Given the description of an element on the screen output the (x, y) to click on. 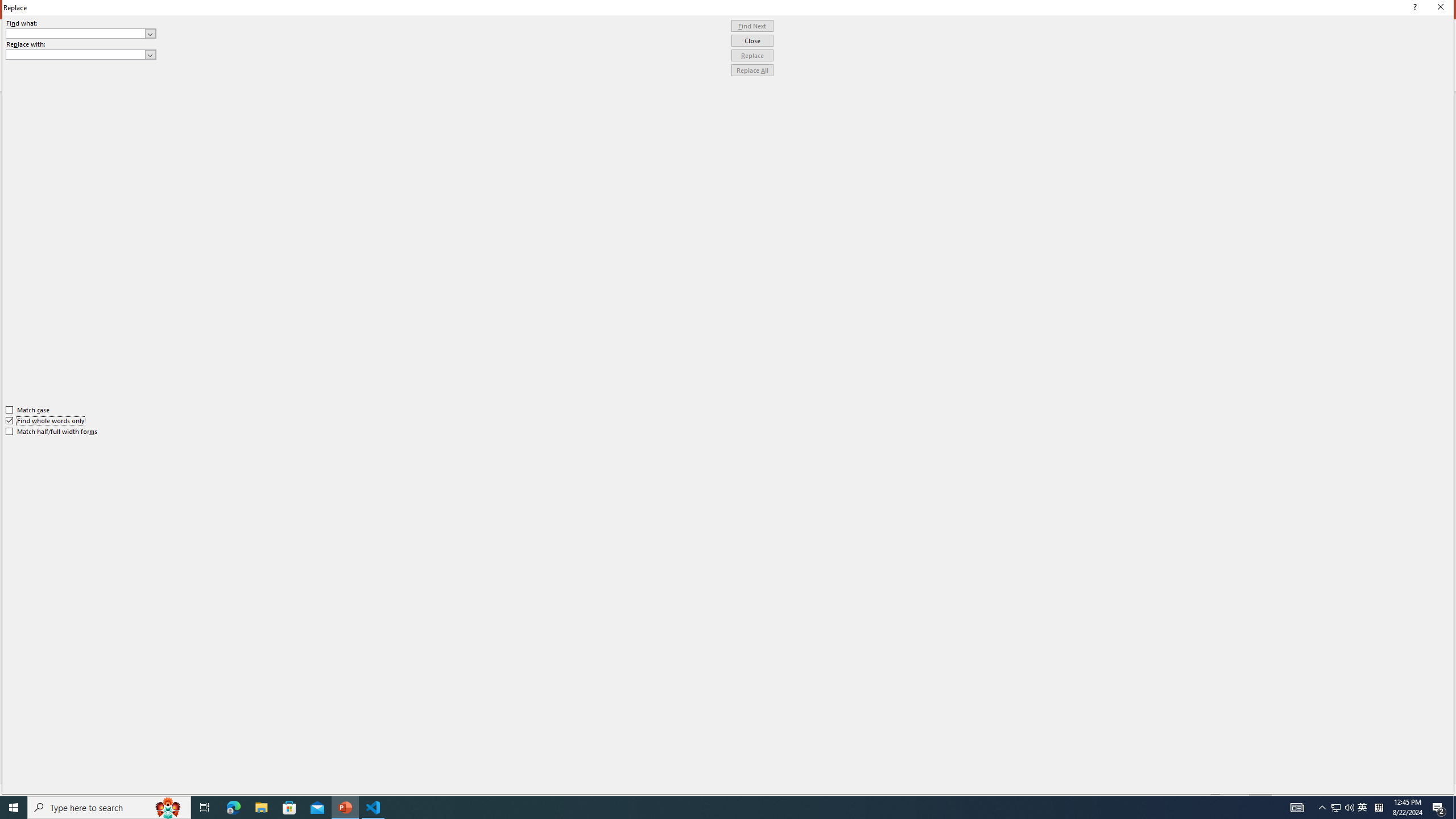
Find what (75, 33)
Replace with (75, 53)
Replace (752, 55)
Find Next (752, 25)
Context help (1413, 8)
Match half/full width forms (52, 431)
Find what (80, 33)
Replace All (752, 69)
Find whole words only (45, 420)
Match case (27, 409)
Replace with (80, 54)
